Given the description of an element on the screen output the (x, y) to click on. 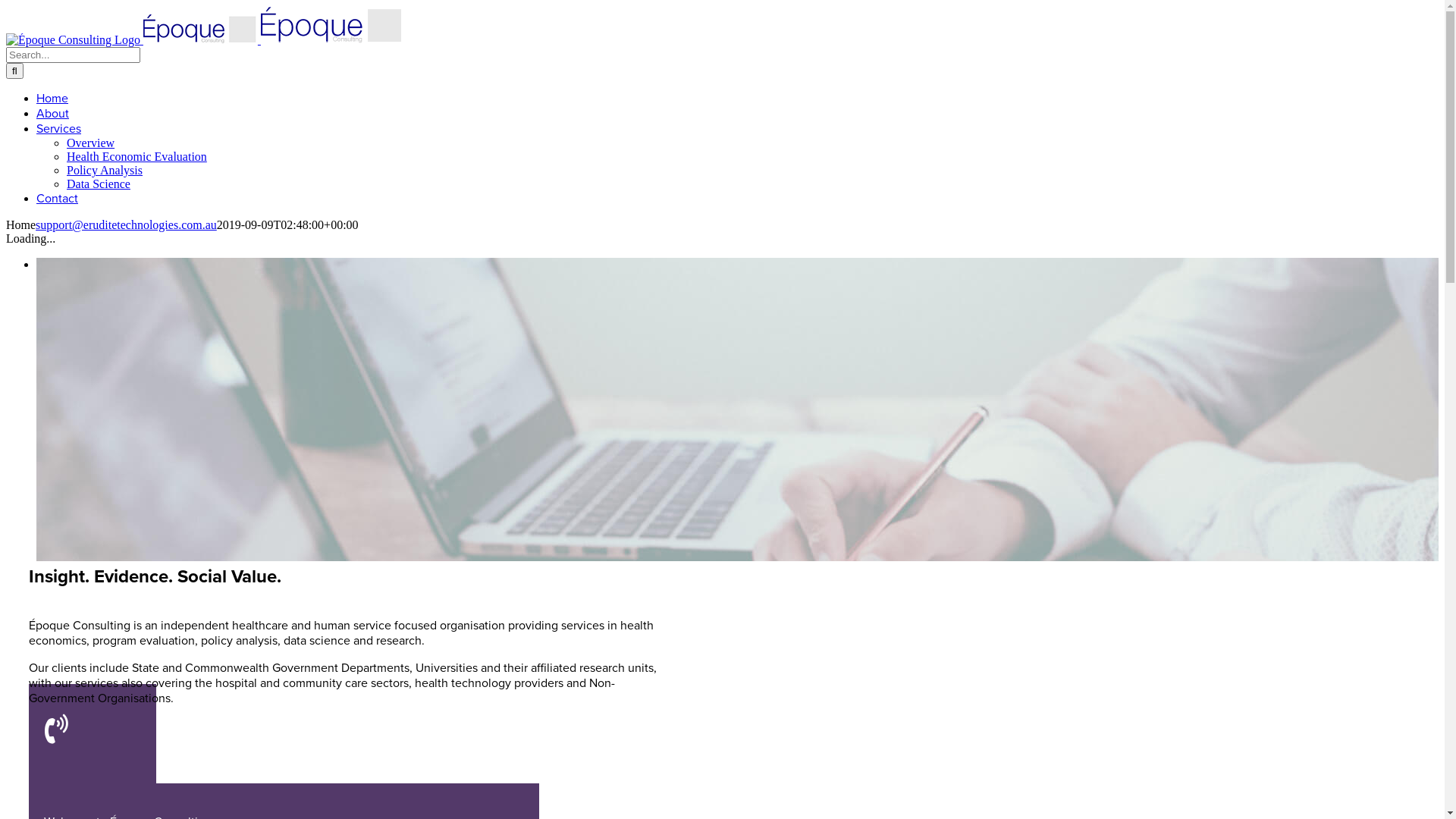
Home Element type: text (52, 98)
Data Science Element type: text (98, 183)
Policy Analysis Element type: text (104, 169)
Health Economic Evaluation Element type: text (136, 156)
Overview Element type: text (90, 142)
Contact Element type: text (57, 198)
Skip to content Element type: text (5, 5)
About Element type: text (52, 113)
Services Element type: text (58, 128)
support@eruditetechnologies.com.au Element type: text (125, 224)
